Given the description of an element on the screen output the (x, y) to click on. 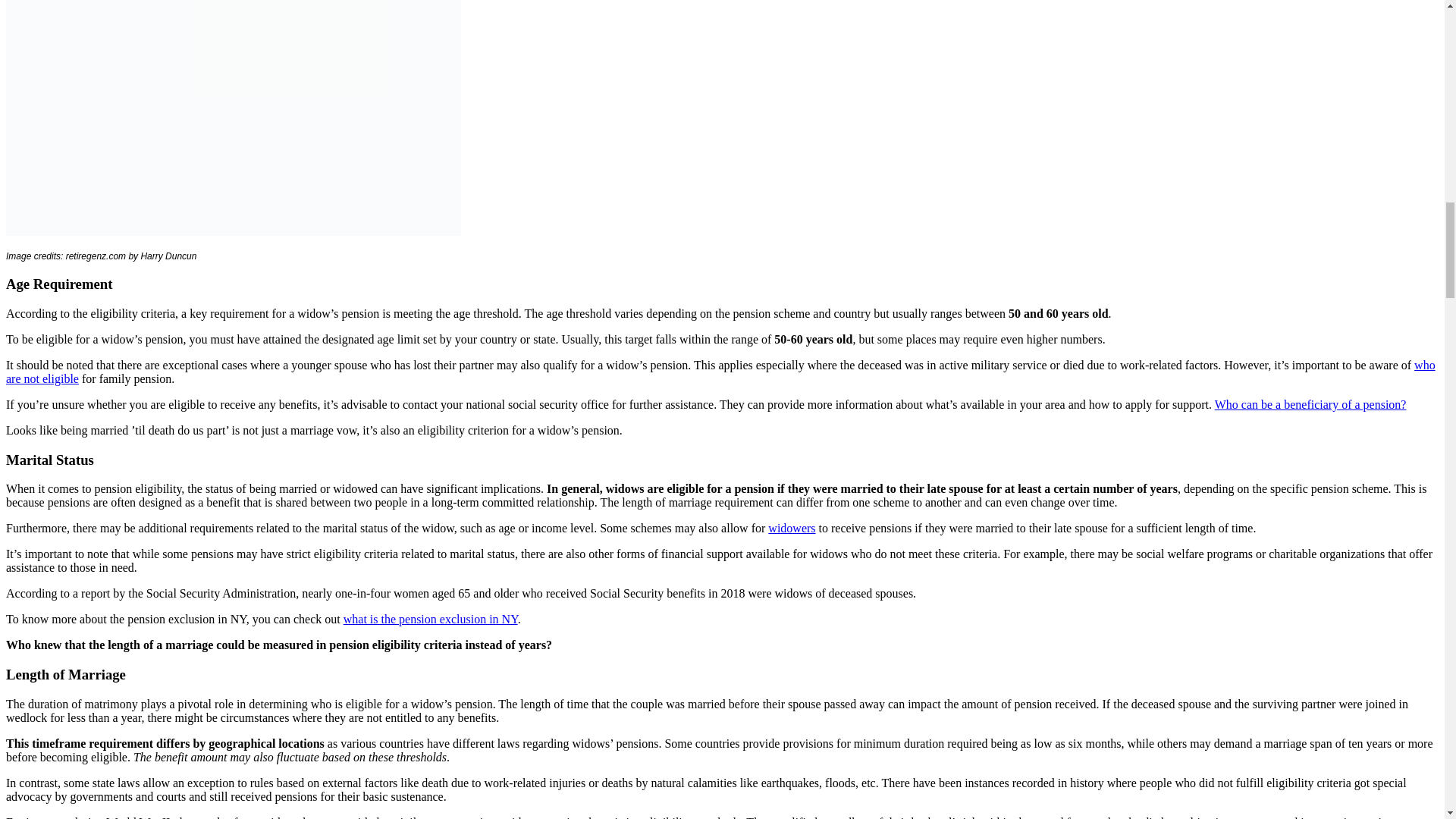
Who can be a beneficiary of a pension? (1310, 404)
what is the pension exclusion in NY (430, 618)
widowers (791, 527)
